Given the description of an element on the screen output the (x, y) to click on. 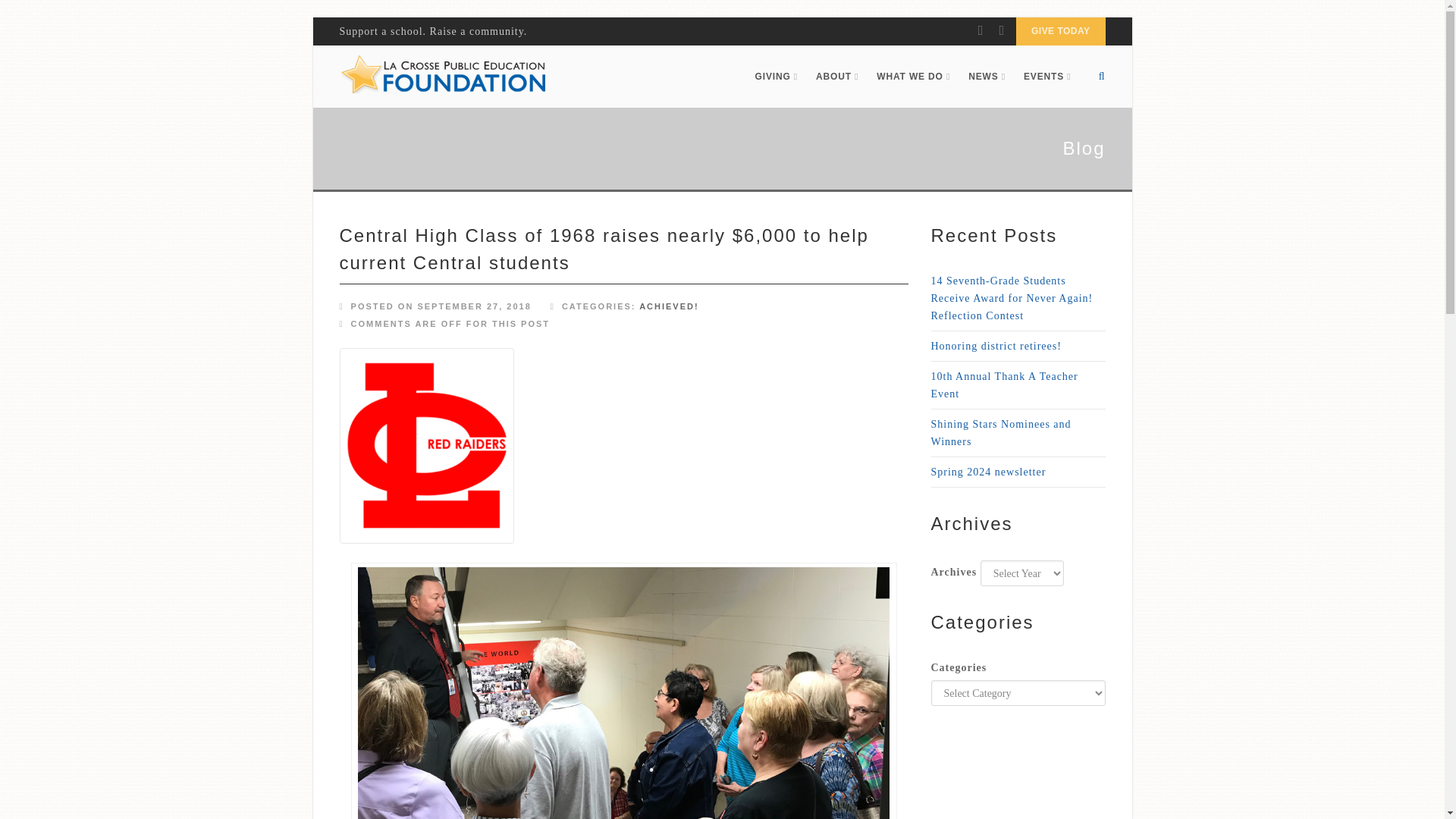
NEWS (986, 76)
WHAT WE DO (913, 76)
GIVING (775, 76)
ABOUT (836, 76)
La Crosse Public Education Foundation (443, 76)
GIVE TODAY (1060, 31)
